Given the description of an element on the screen output the (x, y) to click on. 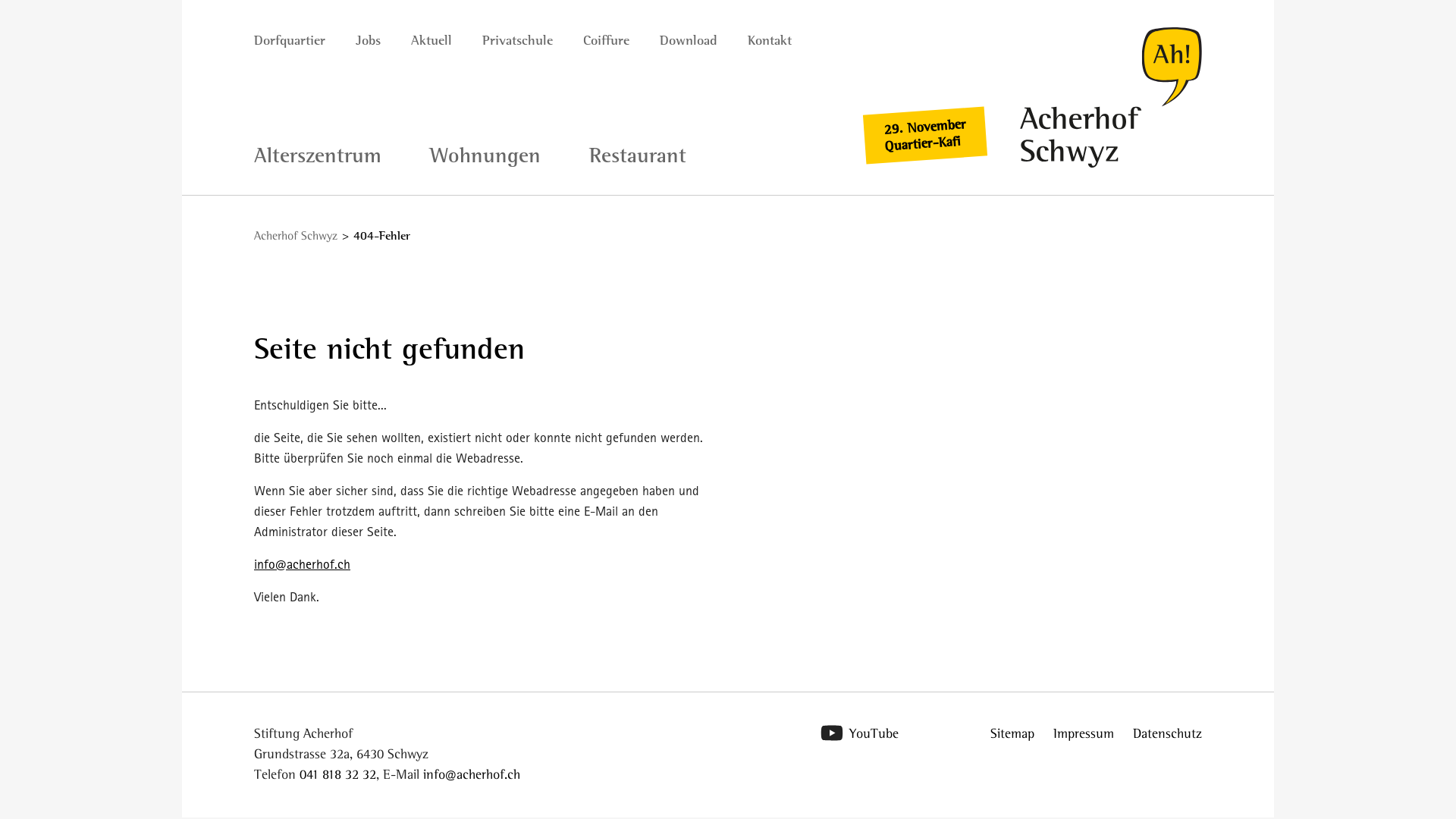
info@acherhof.ch Element type: text (471, 773)
Download Element type: text (688, 40)
Impressum Element type: text (1083, 732)
YouTube Kanal Acherhof Element type: hover (831, 733)
Aktuell Element type: text (431, 40)
info@acherhof.ch Element type: text (302, 563)
Wohnungen Element type: text (484, 156)
Dorfquartier Element type: text (289, 40)
Sitemap Element type: text (1012, 732)
Alterszentrum Element type: text (317, 156)
29. November
Quartier-Kafi Element type: text (923, 130)
041 818 32 32 Element type: text (337, 773)
Privatschule Element type: text (517, 40)
Acherhof Schwyz Element type: text (295, 235)
Acherhof Schwyz Element type: hover (1110, 97)
Restaurant Element type: text (637, 156)
Datenschutz Element type: text (1166, 732)
Kontakt Element type: text (769, 40)
YouTube Element type: text (873, 732)
Coiffure Element type: text (606, 40)
Jobs Element type: text (367, 40)
